Given the description of an element on the screen output the (x, y) to click on. 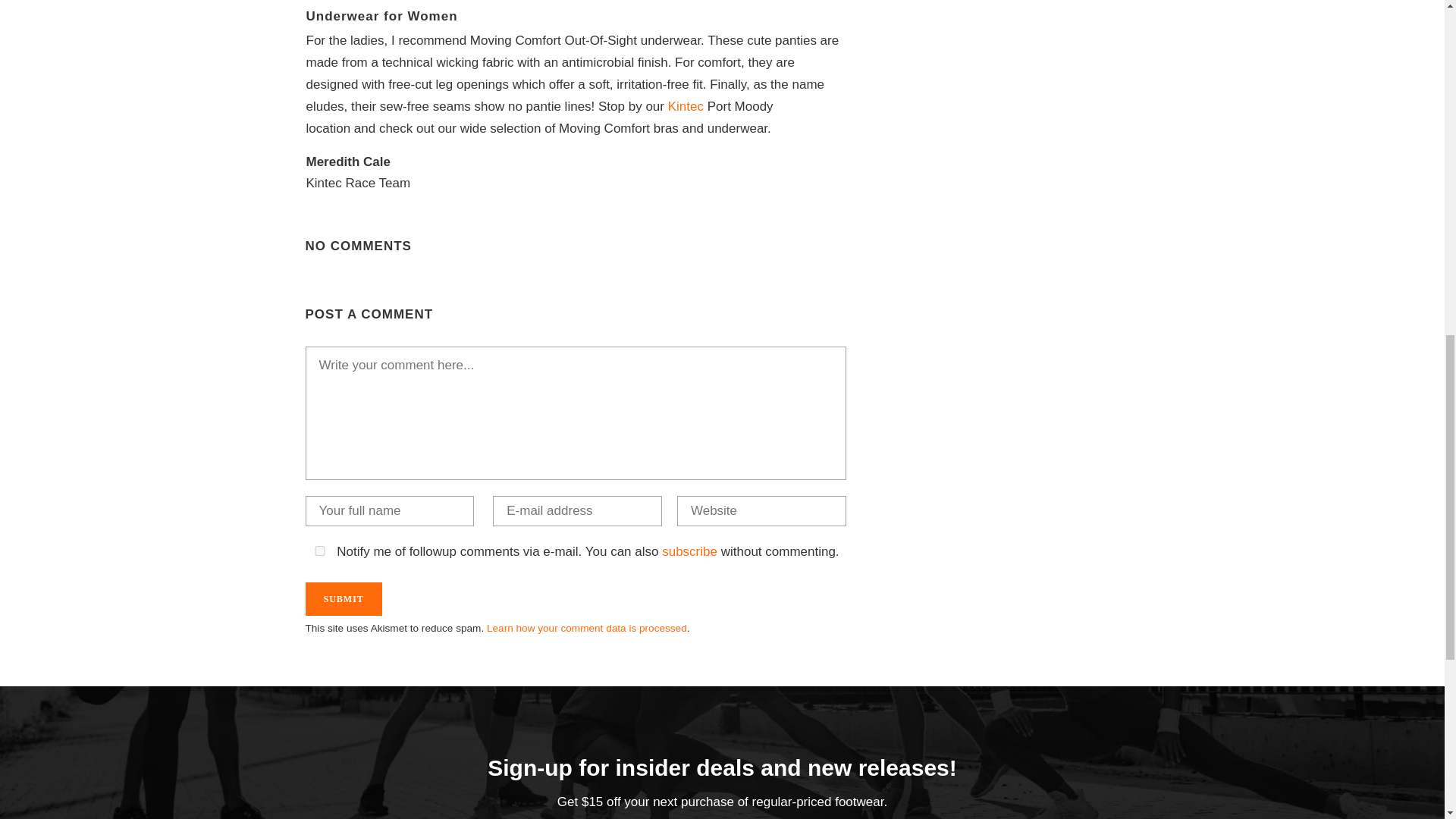
Submit (342, 598)
subscribe (689, 551)
yes (318, 551)
Kintec (687, 106)
